Given the description of an element on the screen output the (x, y) to click on. 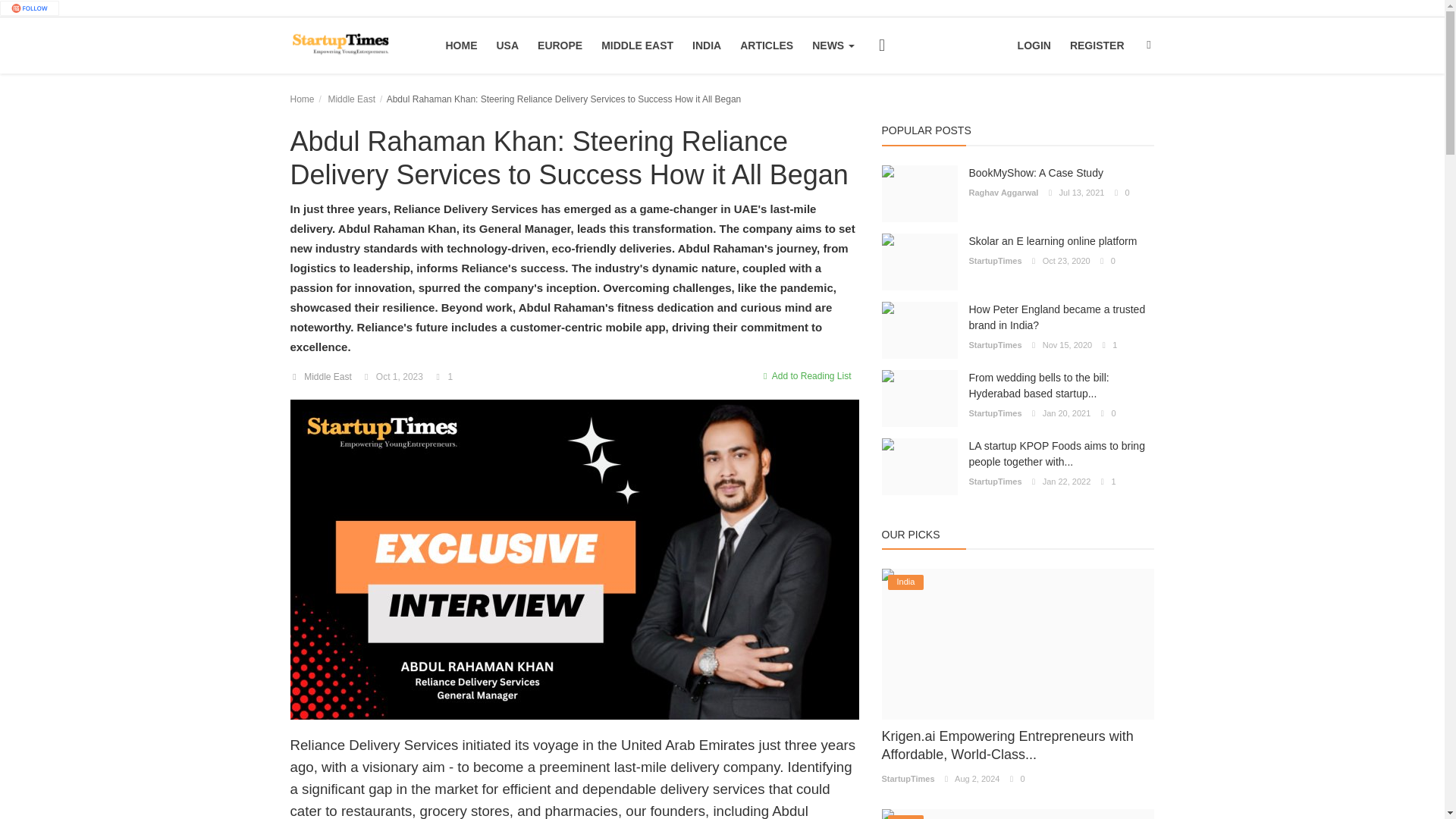
NEWS (833, 45)
Home (301, 99)
REGISTER (1097, 45)
Follow Startuptimes on F6S (29, 7)
ARTICLES (766, 45)
EUROPE (559, 45)
MIDDLE EAST (637, 45)
Middle East (351, 99)
